Given the description of an element on the screen output the (x, y) to click on. 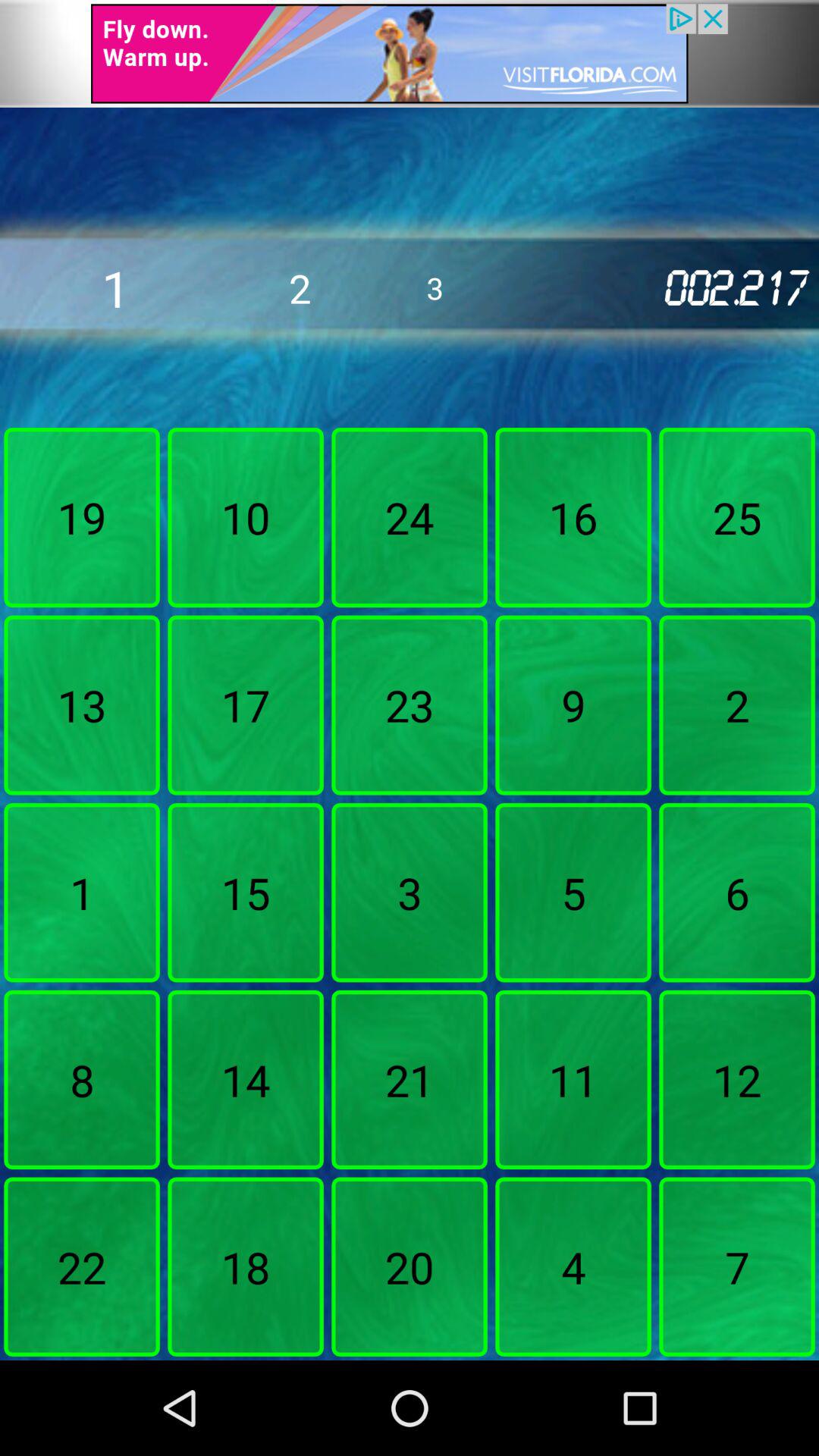
go to calculater (409, 53)
